Given the description of an element on the screen output the (x, y) to click on. 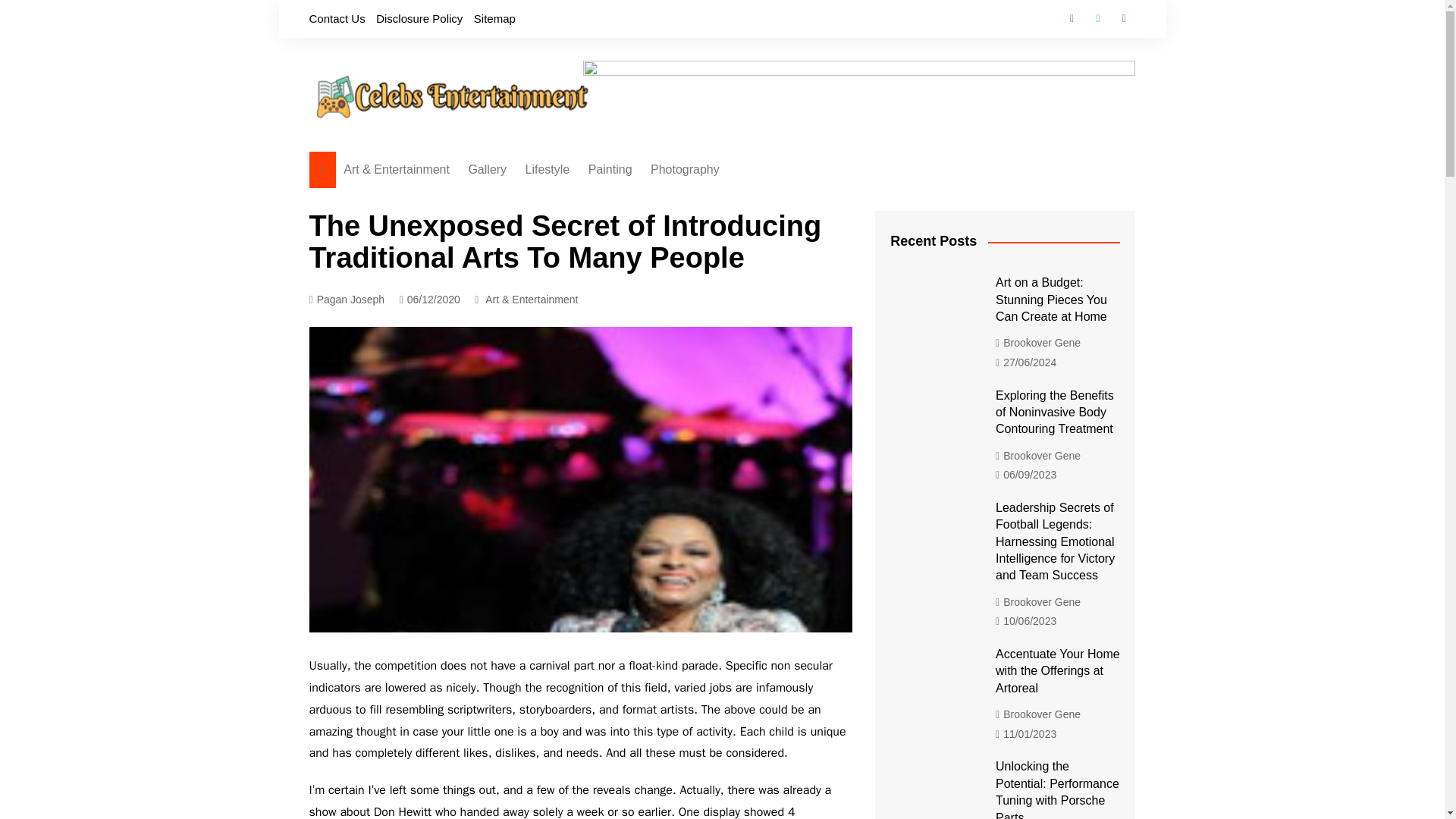
Pagan Joseph (346, 299)
Instagram (1123, 18)
Contact Us (336, 18)
Disclosure Policy (419, 18)
Gallery (486, 169)
Sitemap (494, 18)
Twitter (1097, 18)
Accentuate Your Home with the Offerings at Artoreal (930, 677)
